Given the description of an element on the screen output the (x, y) to click on. 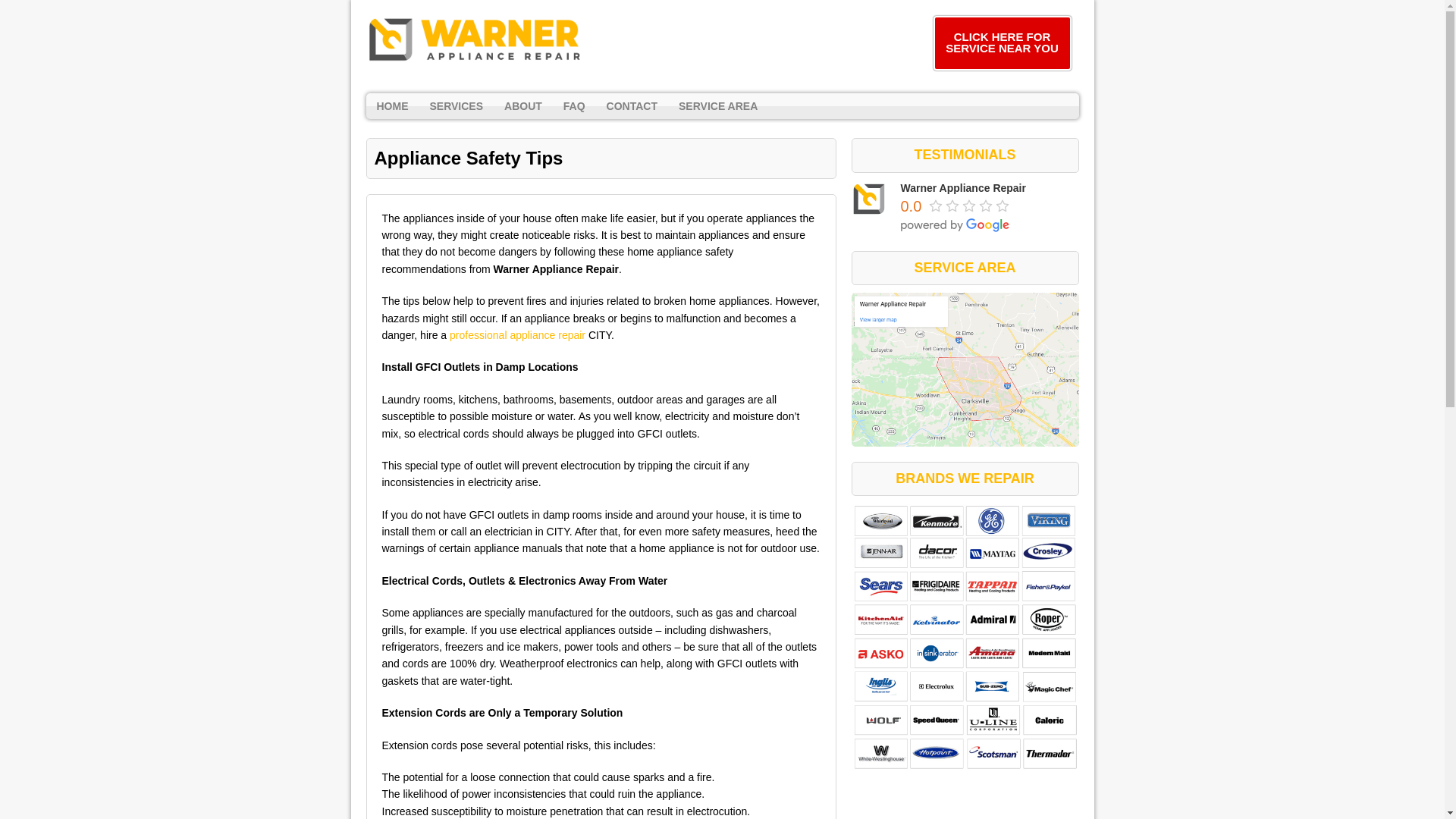
SERVICE AREA (718, 105)
Warner Appliance Repair (869, 199)
powered by Google (955, 224)
Warner Appliance Repair (474, 39)
SERVICES (456, 105)
Warner Appliance Repair (963, 187)
professional appliance repair (517, 335)
HOME (392, 105)
CONTACT (631, 105)
ABOUT (523, 105)
